Given the description of an element on the screen output the (x, y) to click on. 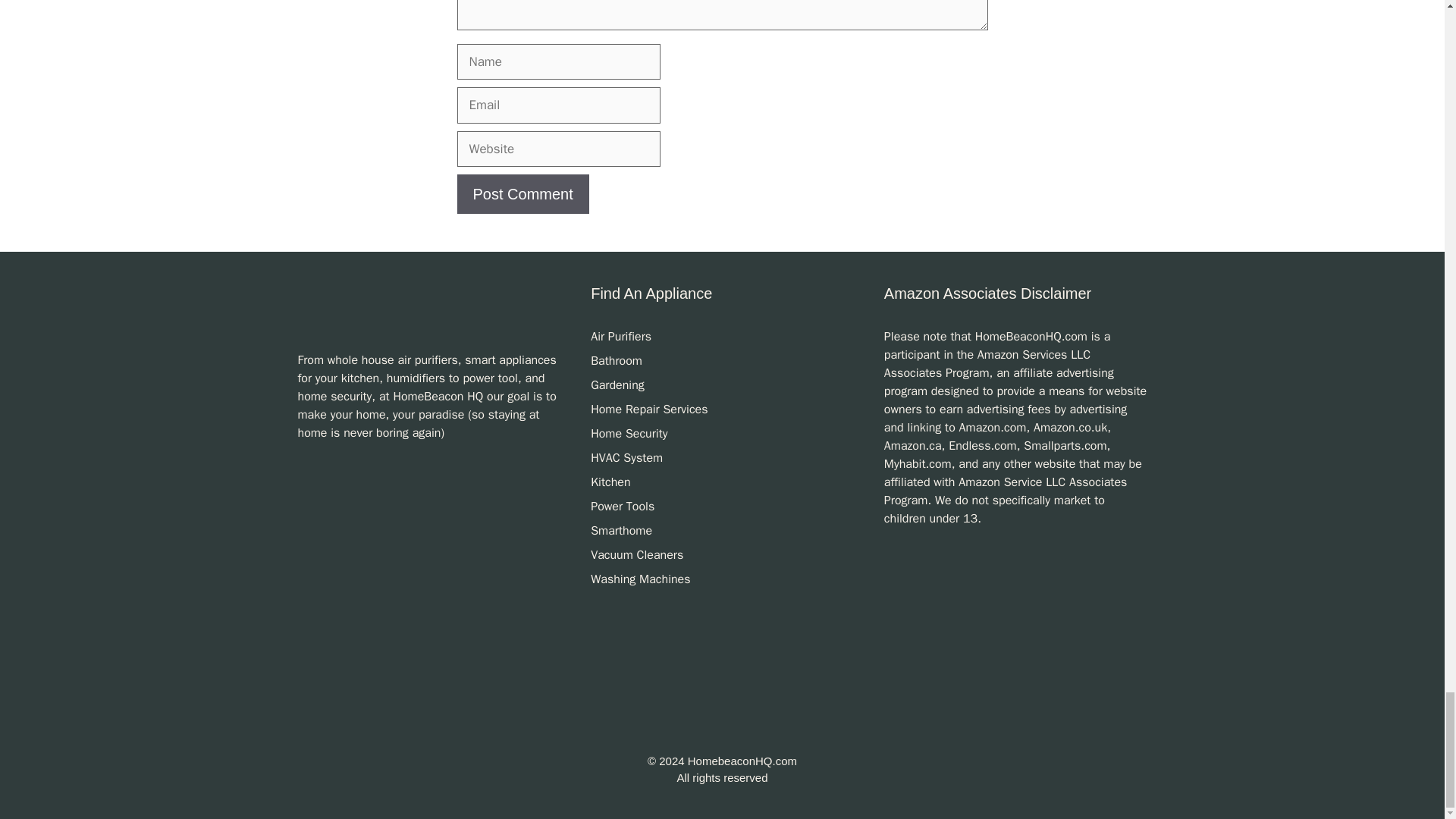
Bathroom (616, 360)
DMCA.com Protection Status (721, 743)
Gardening (618, 385)
best power tools for small homes (622, 506)
Post Comment (522, 193)
essential hvac tools (626, 458)
best smarthome appliances (621, 530)
best home security tools without subscription  (628, 433)
Post Comment (522, 193)
essential gardening tools for new homeowners (618, 385)
